Given the description of an element on the screen output the (x, y) to click on. 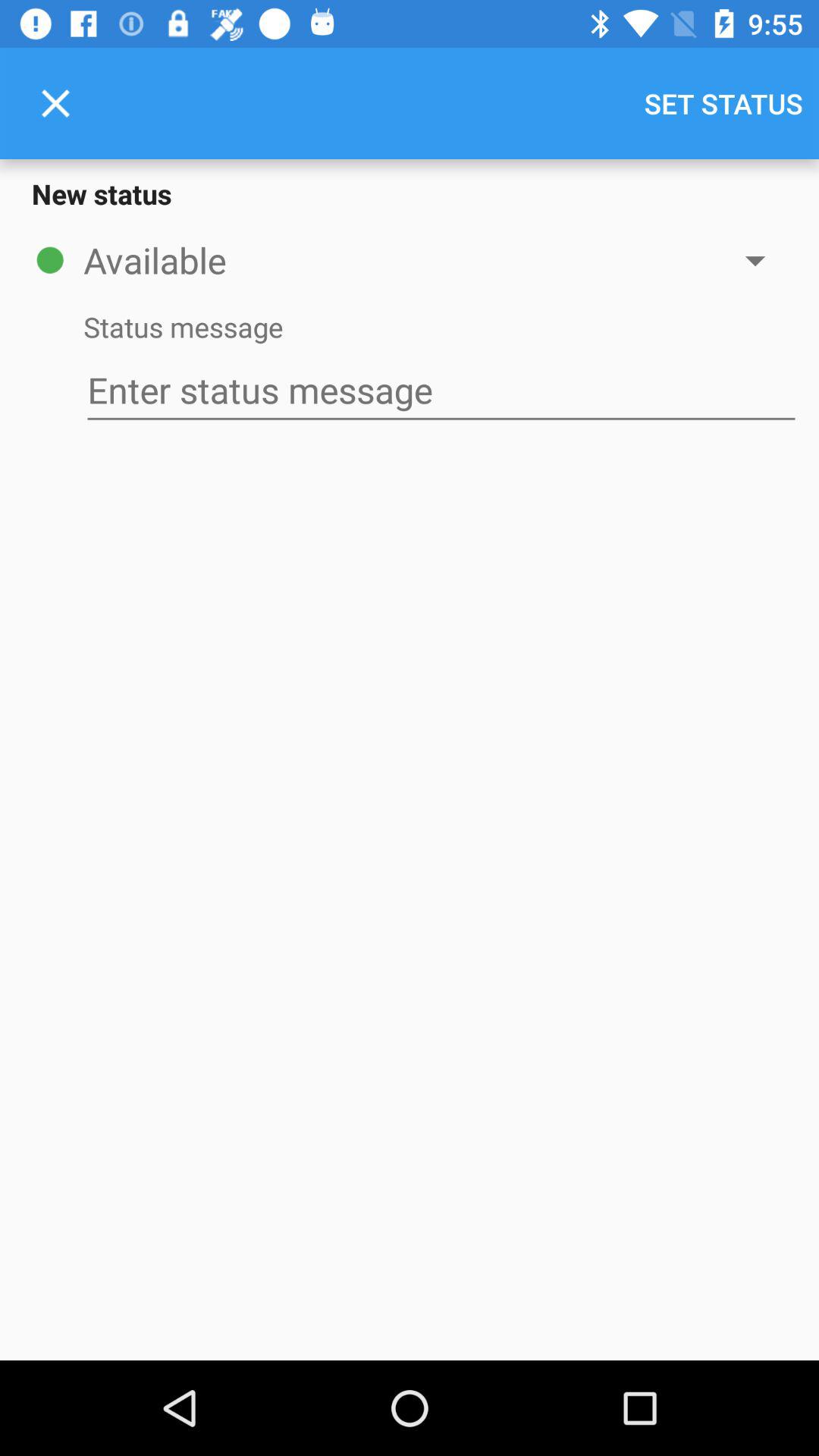
open the item above new status item (55, 103)
